Given the description of an element on the screen output the (x, y) to click on. 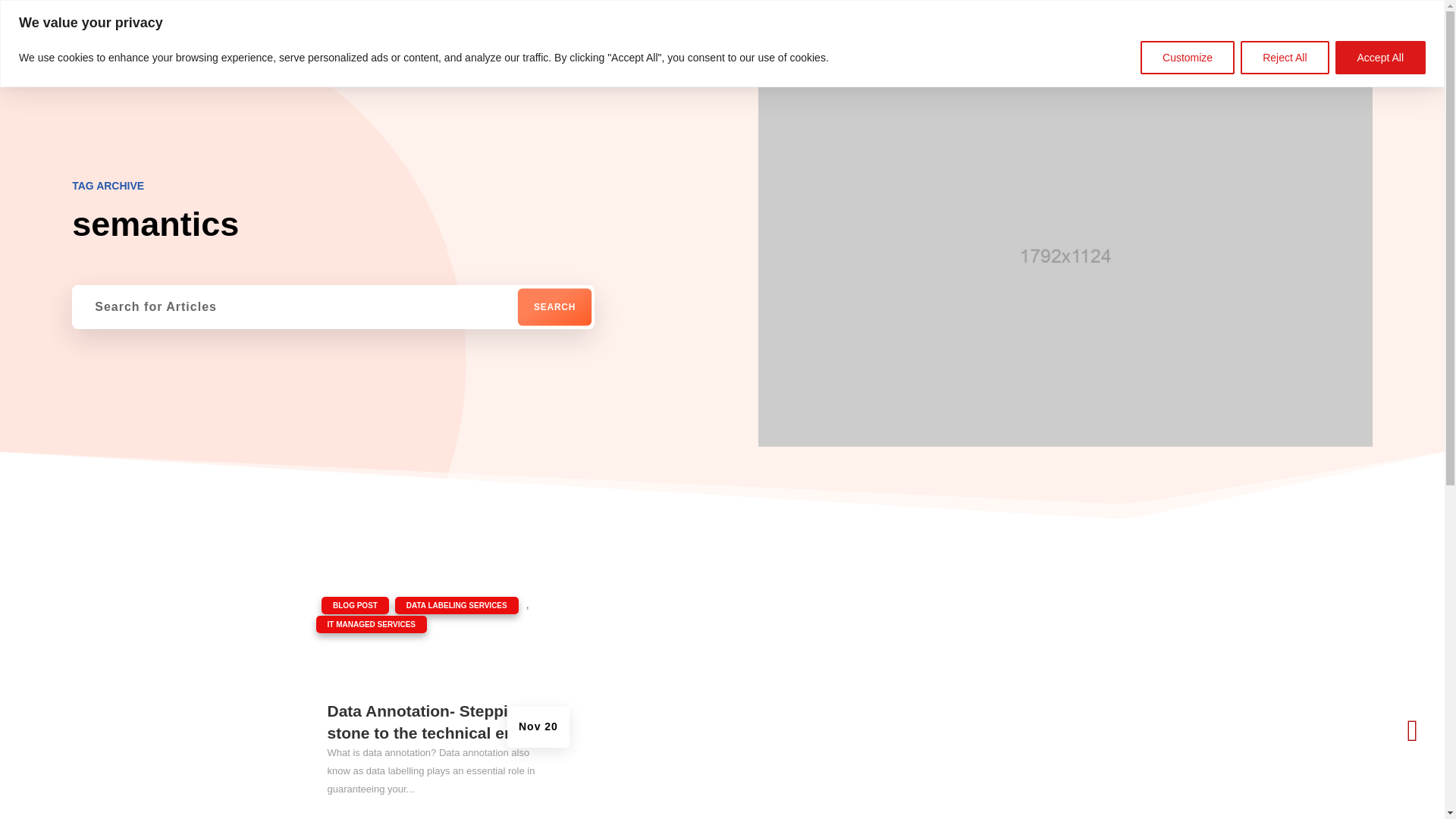
Careers (449, 56)
Insights (378, 56)
Follow on LinkedIn (1317, 11)
Follow on Facebook (1295, 11)
Follow on Instagram (1340, 11)
Follow on Pinterest (1363, 11)
Search (560, 310)
Search (560, 310)
What we do (200, 56)
Reject All (1283, 57)
Customize (1187, 57)
Who We Are (295, 56)
Accept All (1380, 57)
